Given the description of an element on the screen output the (x, y) to click on. 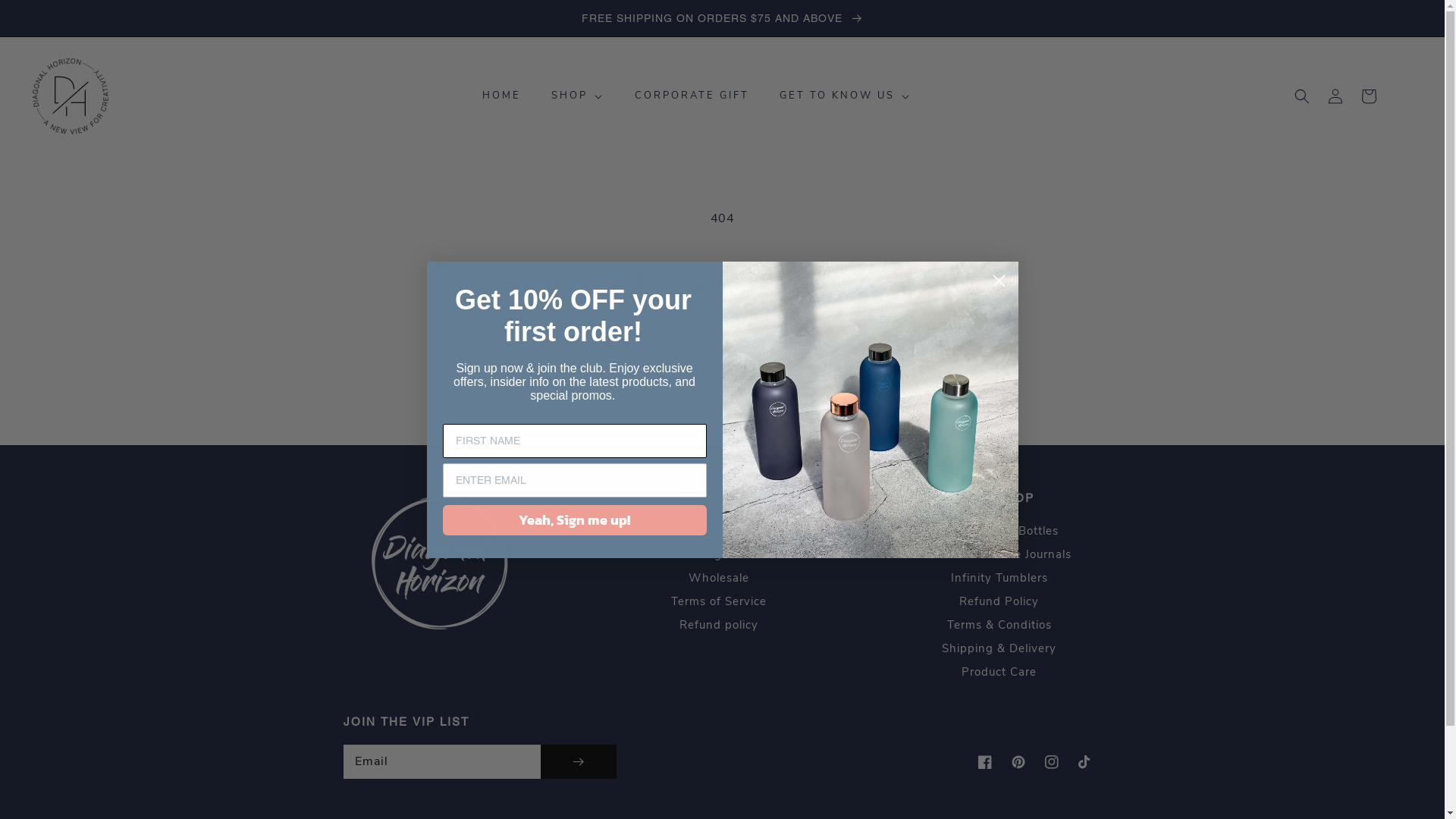
TikTok Element type: text (1084, 761)
Facebook Element type: text (984, 761)
Frosty Water Bottles Element type: text (998, 531)
HOME Element type: text (501, 95)
Terms of Service Element type: text (717, 601)
CONTINUE SHOPPING Element type: text (721, 352)
Shipping & Delivery Element type: text (998, 648)
Creative Diverse Journals Element type: text (998, 554)
FREE SHIPPING ON ORDERS $75 AND ABOVE Element type: text (721, 17)
Instagram Element type: text (1050, 761)
Wholesale Element type: text (718, 577)
Close dialog 1 Element type: text (998, 279)
Our Blog Journal Element type: text (718, 554)
Submit Element type: text (21, 7)
Pinterest Element type: text (1017, 761)
Product Care Element type: text (998, 672)
Infinity Tumblers Element type: text (999, 577)
Yeah, Sign me up! Element type: text (574, 520)
Refund Policy Element type: text (998, 601)
Search Element type: text (718, 531)
Log in Element type: text (1335, 95)
Cart Element type: text (1368, 95)
Refund policy Element type: text (718, 625)
Terms & Conditios Element type: text (998, 625)
CORPORATE GIFT Element type: text (691, 95)
